Given the description of an element on the screen output the (x, y) to click on. 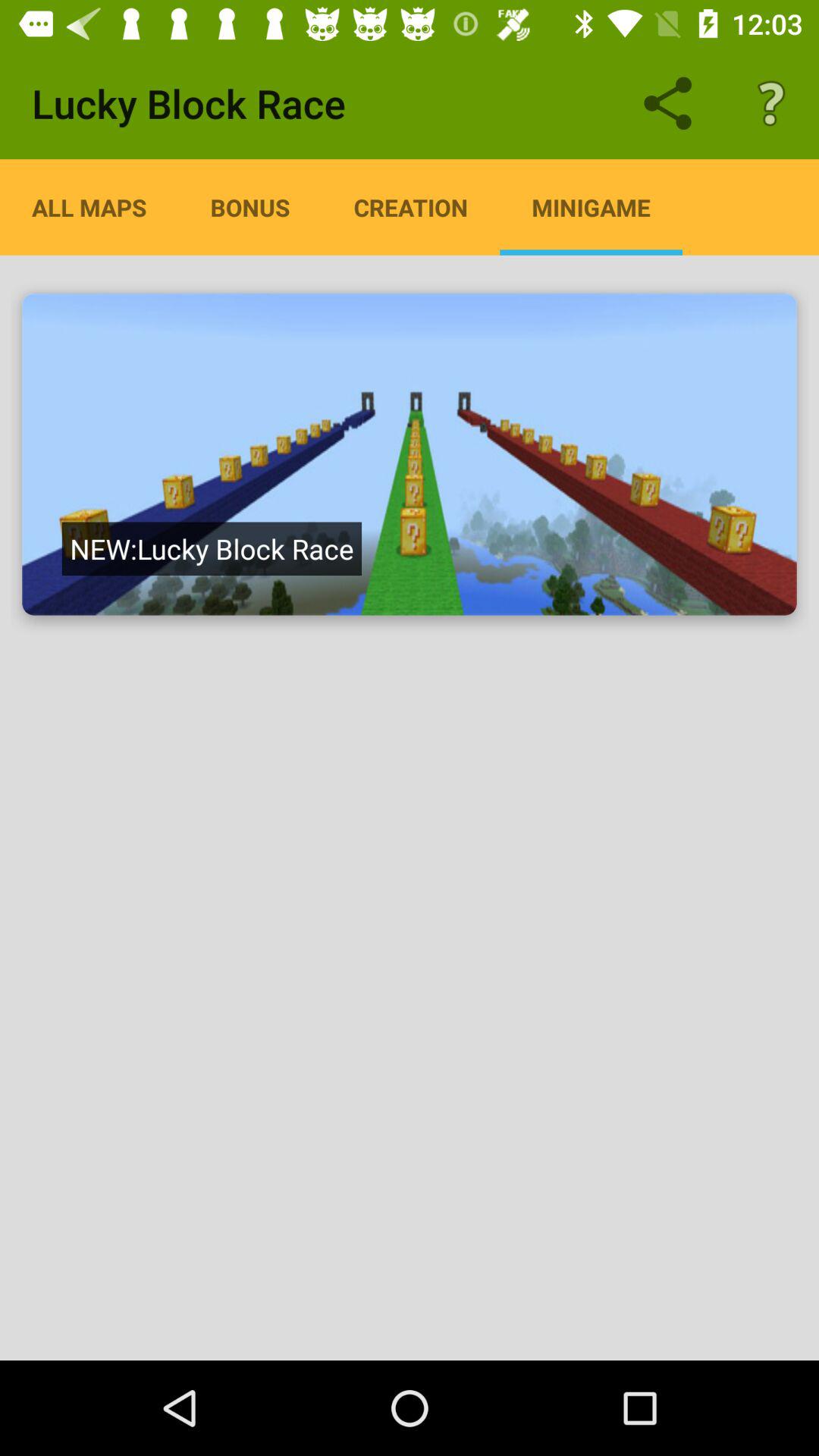
scroll until creation app (410, 207)
